Given the description of an element on the screen output the (x, y) to click on. 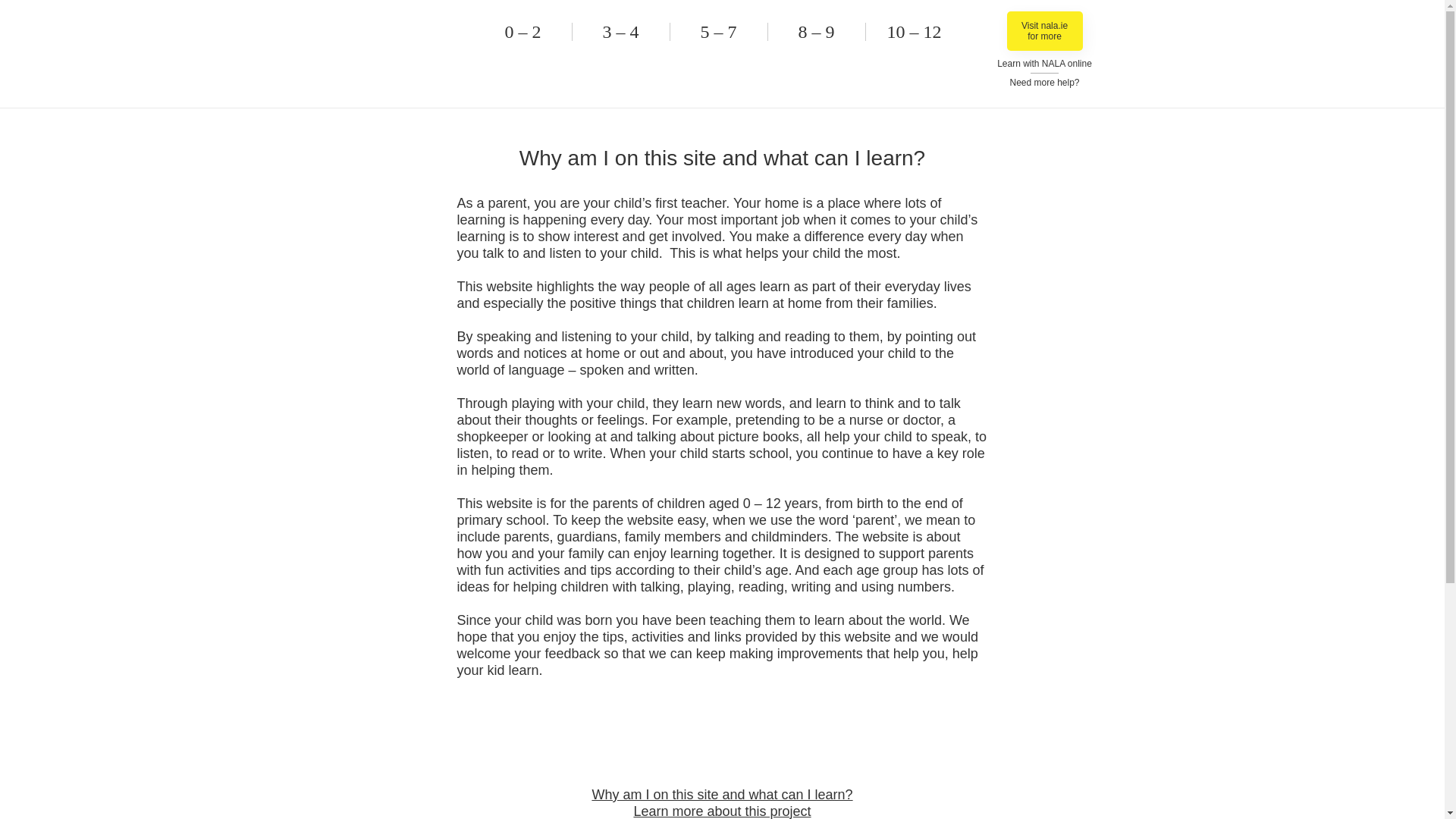
Learn with NALA online (1044, 63)
Learn more about this project (721, 811)
Visit nala.ie for more (1045, 30)
Why am I on this site and what can I learn? (721, 794)
Menu (396, 45)
Need more help? (1043, 81)
